Given the description of an element on the screen output the (x, y) to click on. 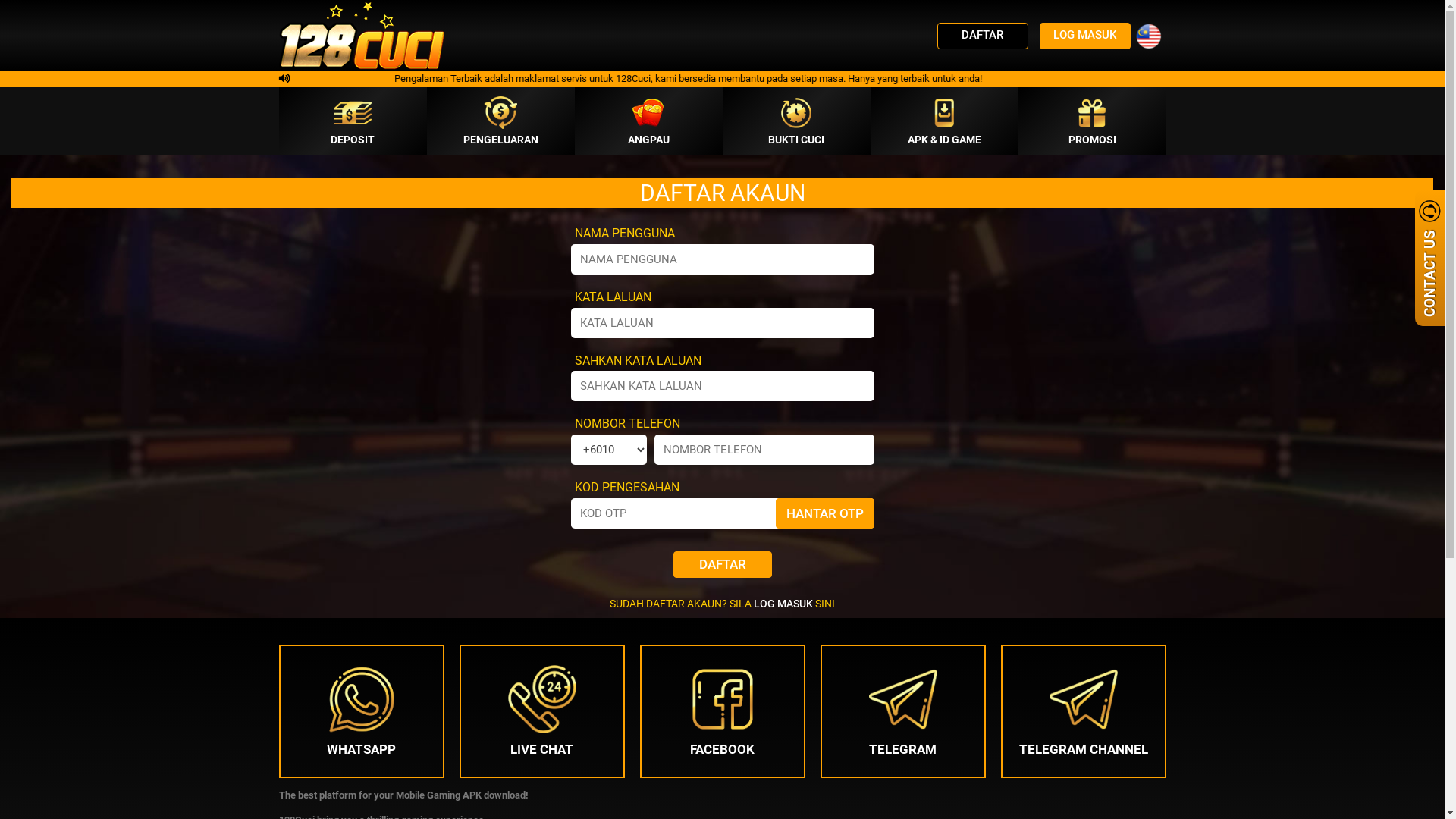
ANGPAU Element type: text (648, 121)
LOG MASUK Element type: text (782, 603)
LOG MASUK Element type: text (1083, 35)
PROMOSI Element type: text (1091, 121)
BUKTI CUCI Element type: text (795, 121)
DAFTAR Element type: text (722, 564)
DEPOSIT Element type: text (352, 121)
LIVE CHAT Element type: text (541, 710)
HANTAR OTP Element type: text (824, 513)
FACEBOOK Element type: text (722, 710)
PENGELUARAN Element type: text (500, 121)
TELEGRAM CHANNEL Element type: text (1083, 710)
TELEGRAM Element type: text (902, 710)
WHATSAPP Element type: text (361, 710)
DAFTAR Element type: text (982, 35)
APK & ID GAME Element type: text (944, 121)
Malay Element type: hover (1147, 35)
